Given the description of an element on the screen output the (x, y) to click on. 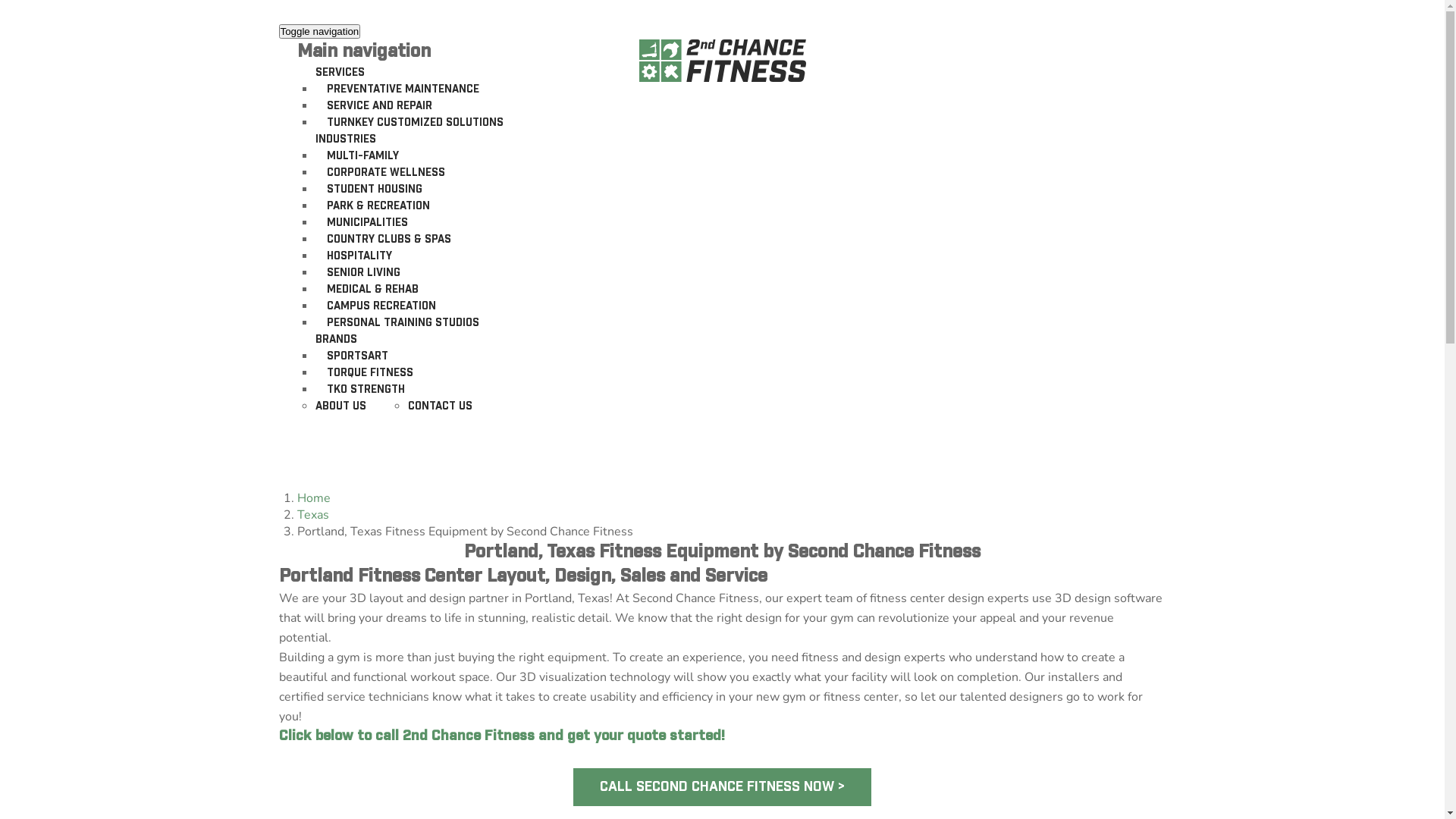
Texas Element type: text (313, 514)
BRANDS Element type: text (336, 339)
CONTACT US Element type: text (439, 406)
ABOUT US Element type: text (340, 406)
STUDENT HOUSING Element type: text (374, 189)
SERVICE AND REPAIR Element type: text (379, 105)
TKO STRENGTH Element type: text (365, 389)
Home Element type: hover (727, 60)
TURNKEY CUSTOMIZED SOLUTIONS Element type: text (414, 122)
SERVICES Element type: text (339, 72)
INDUSTRIES Element type: text (345, 139)
HOSPITALITY Element type: text (359, 255)
TORQUE FITNESS Element type: text (369, 372)
CALL SECOND CHANCE FITNESS NOW > Element type: text (722, 787)
SENIOR LIVING Element type: text (363, 272)
CORPORATE WELLNESS Element type: text (385, 172)
Skip to main content Element type: text (0, 0)
SPORTSART Element type: text (357, 356)
MUNICIPALITIES Element type: text (367, 222)
MULTI-FAMILY Element type: text (362, 155)
CAMPUS RECREATION Element type: text (381, 305)
MEDICAL & REHAB Element type: text (372, 289)
PERSONAL TRAINING STUDIOS Element type: text (402, 322)
PARK & RECREATION Element type: text (378, 205)
Home Element type: text (313, 497)
Toggle navigation Element type: text (319, 31)
PREVENTATIVE MAINTENANCE Element type: text (402, 89)
COUNTRY CLUBS & SPAS Element type: text (388, 239)
